Given the description of an element on the screen output the (x, y) to click on. 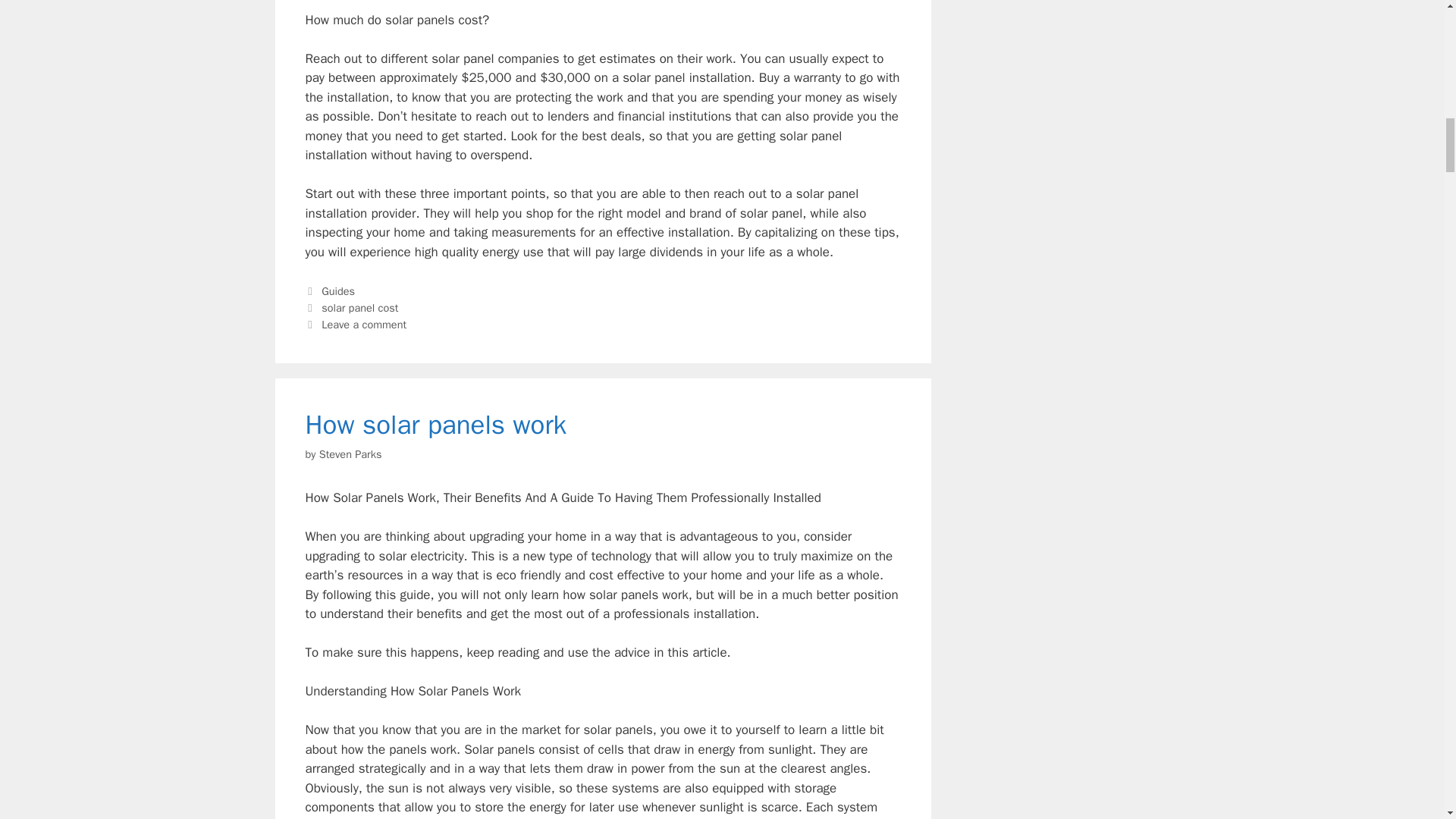
Steven Parks (349, 454)
solar panel cost (359, 307)
How solar panels work (435, 424)
View all posts by Steven Parks (349, 454)
Guides (338, 291)
Leave a comment (363, 324)
